Given the description of an element on the screen output the (x, y) to click on. 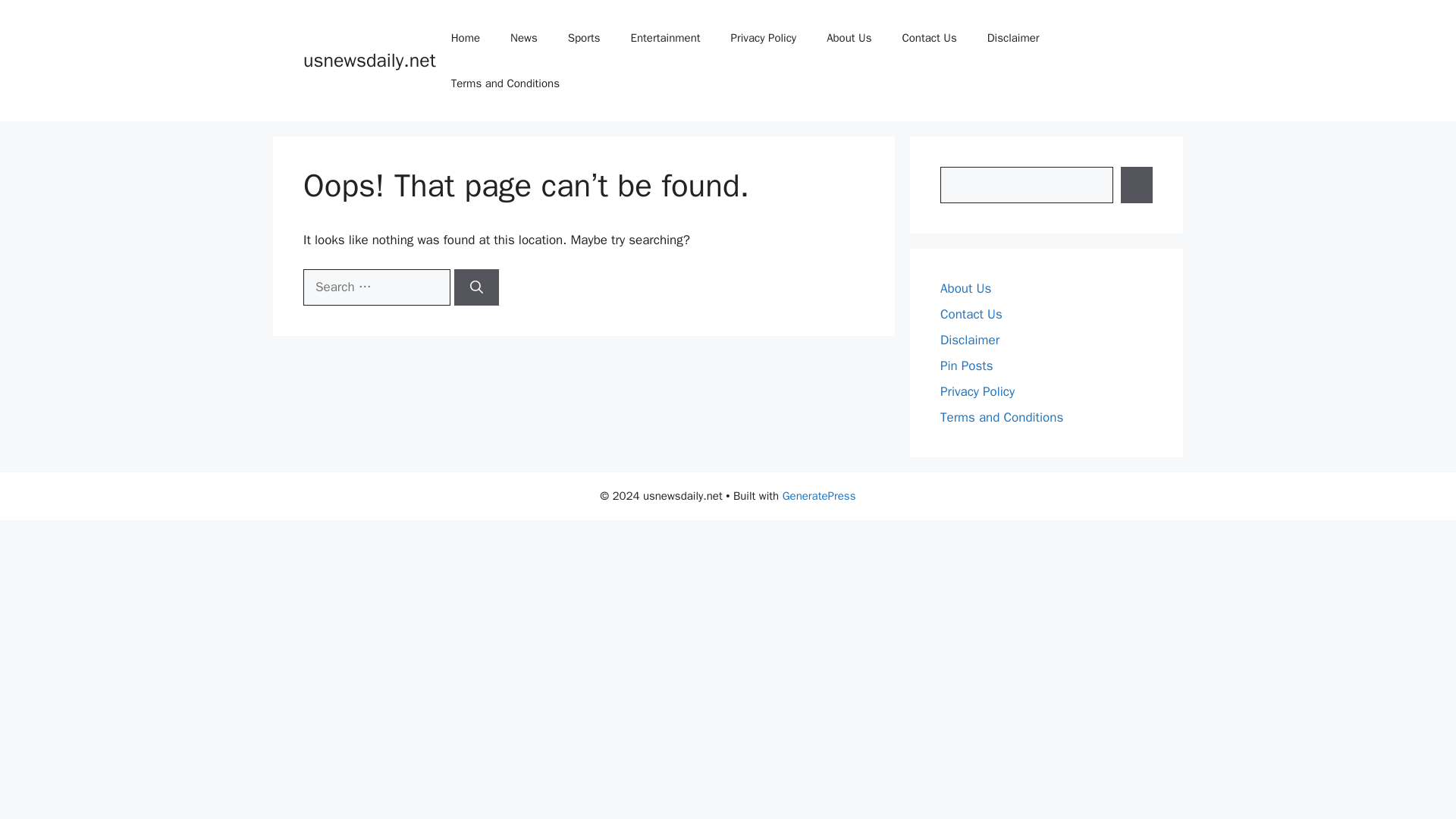
usnewsdaily.net (368, 60)
Entertainment (665, 37)
Pin Posts (966, 365)
Home (465, 37)
Privacy Policy (977, 391)
About Us (848, 37)
About Us (965, 288)
Contact Us (928, 37)
Sports (584, 37)
News (524, 37)
Disclaimer (1013, 37)
Search for: (375, 287)
Contact Us (971, 314)
Terms and Conditions (505, 83)
Terms and Conditions (1001, 417)
